Given the description of an element on the screen output the (x, y) to click on. 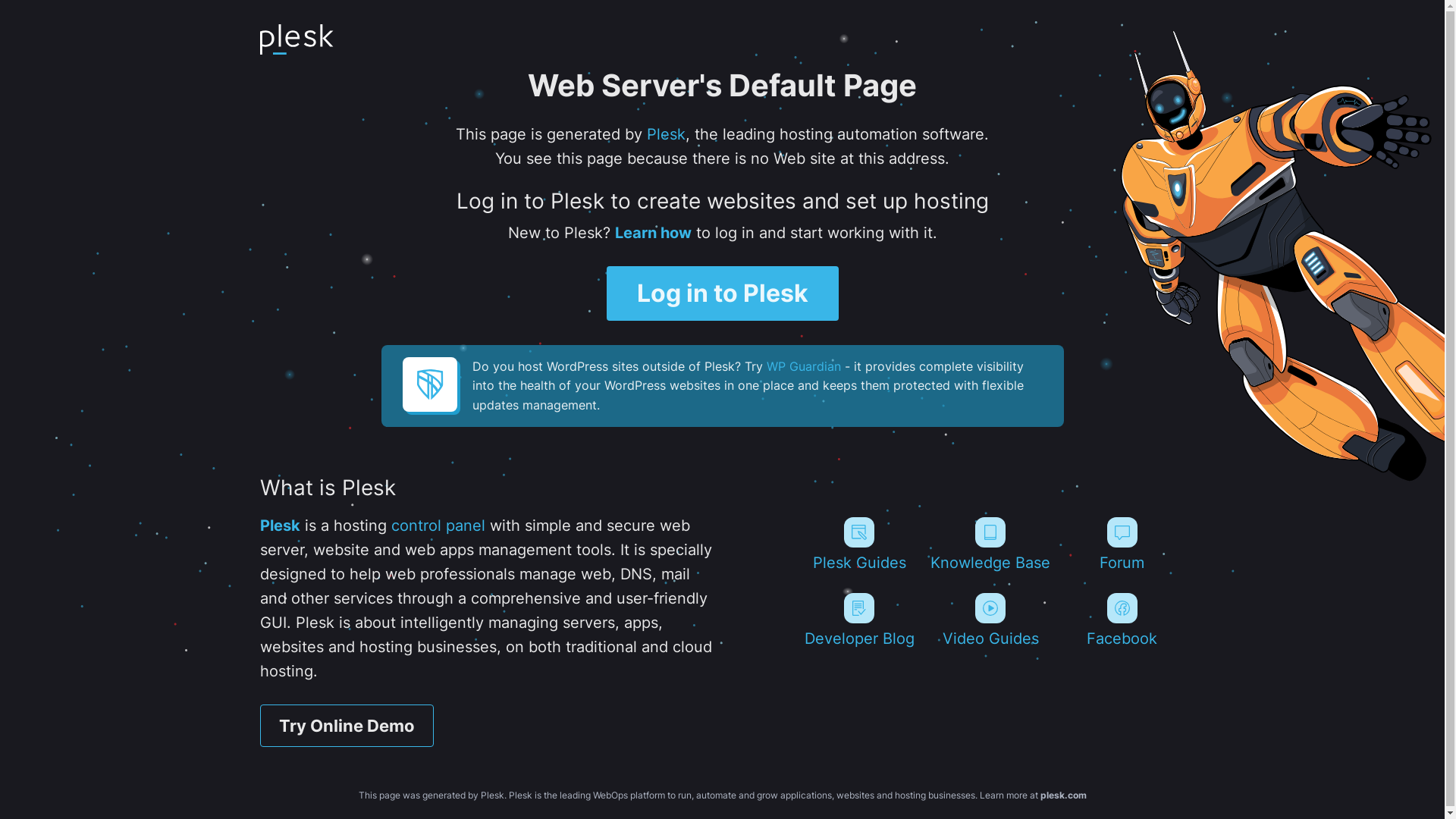
Plesk Guides Element type: text (858, 544)
WP Guardian Element type: text (802, 365)
Developer Blog Element type: text (858, 620)
Plesk Element type: text (665, 134)
Try Online Demo Element type: text (346, 725)
Video Guides Element type: text (990, 620)
Facebook Element type: text (1121, 620)
control panel Element type: text (438, 525)
Plesk Element type: text (279, 525)
plesk.com Element type: text (1063, 794)
Knowledge Base Element type: text (990, 544)
Learn how Element type: text (652, 232)
Log in to Plesk Element type: text (722, 293)
Forum Element type: text (1121, 544)
